Given the description of an element on the screen output the (x, y) to click on. 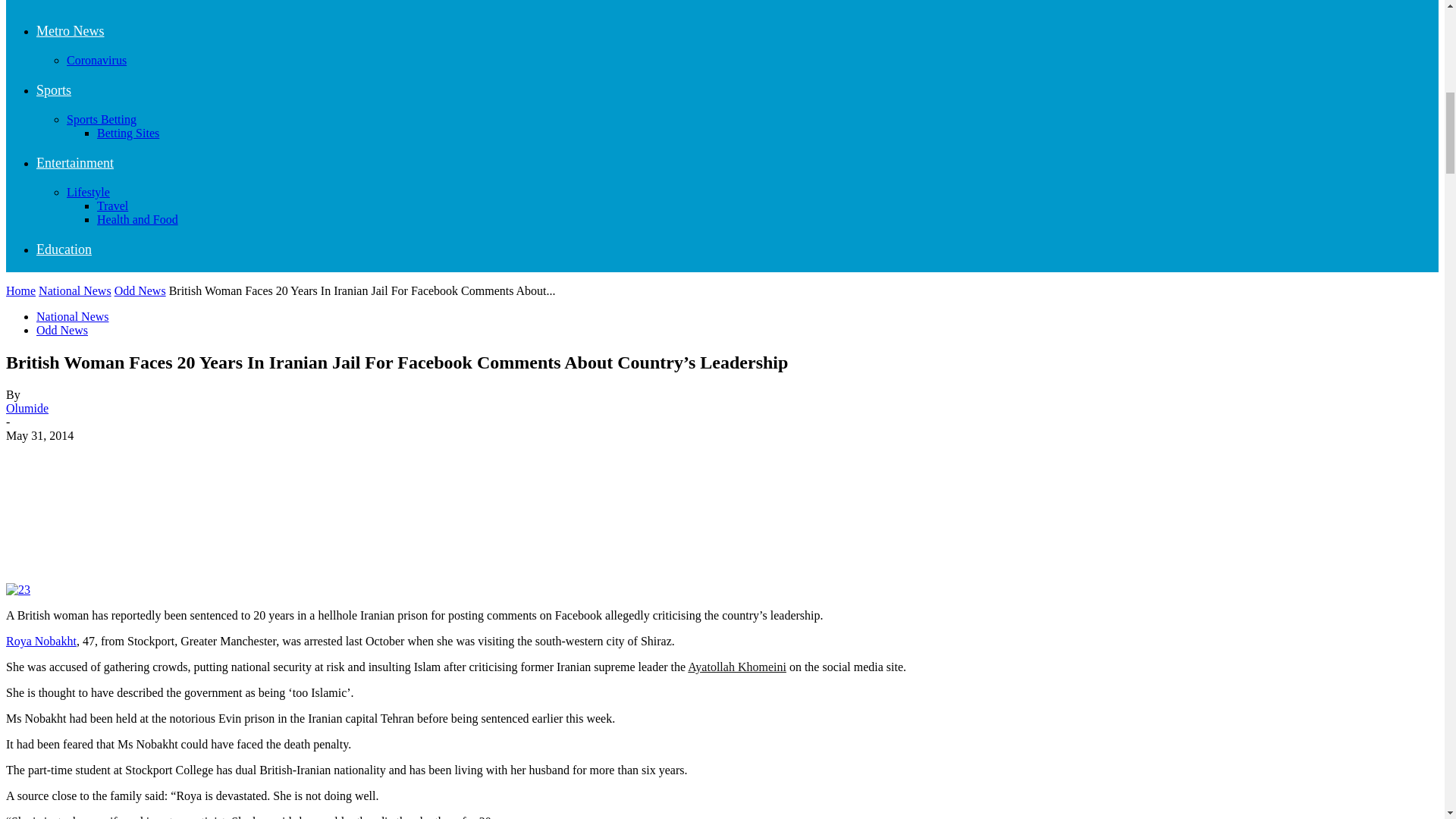
Coronavirus (96, 60)
View all posts in National News (75, 290)
View all posts in Odd News (140, 290)
Metro News (69, 30)
Sports (53, 89)
